Given the description of an element on the screen output the (x, y) to click on. 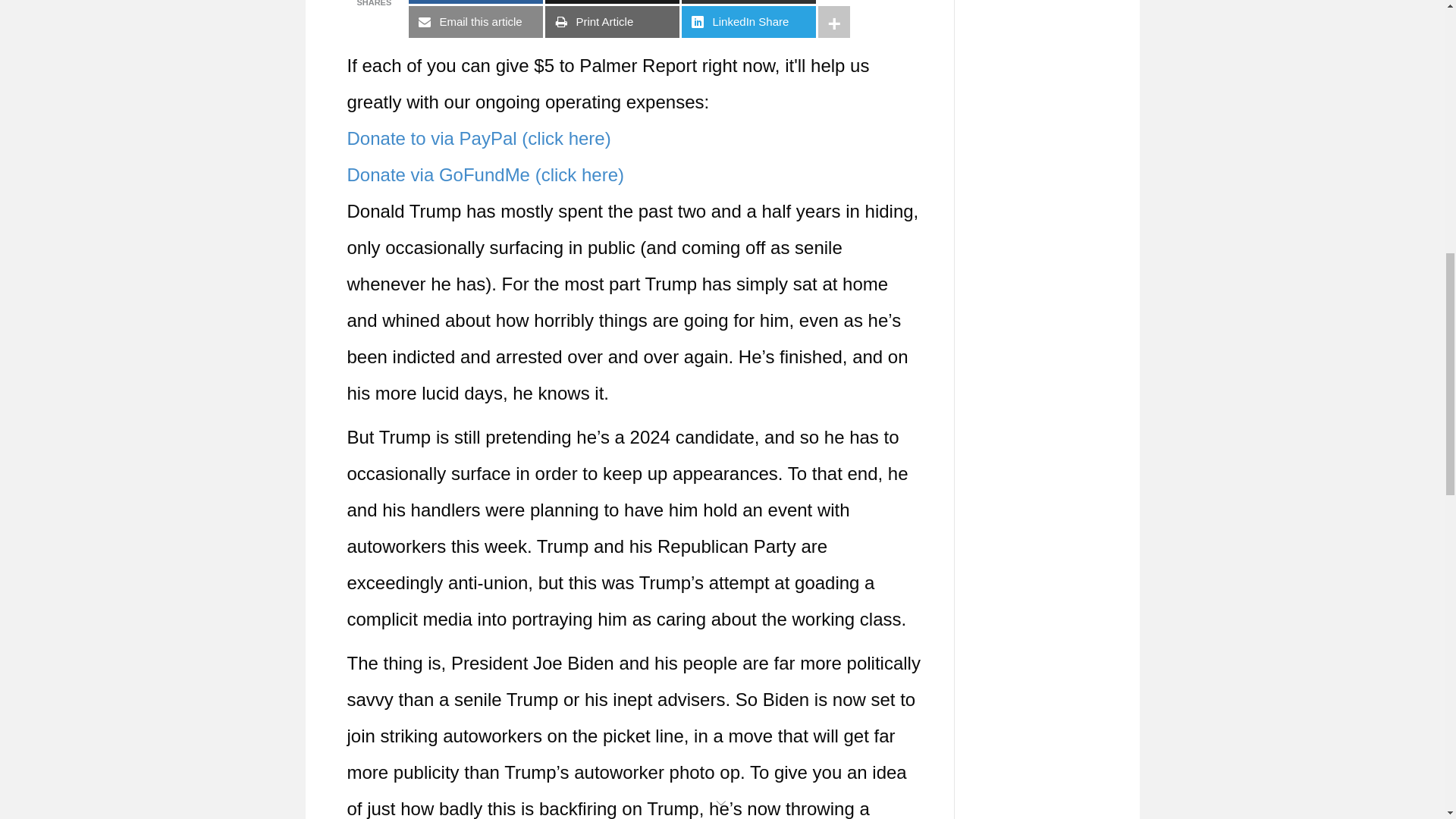
LinkedIn Share (748, 21)
Reddit Share (748, 2)
Print Article (611, 21)
Facebook Share (476, 2)
X Share (611, 2)
Email this article (476, 21)
